Given the description of an element on the screen output the (x, y) to click on. 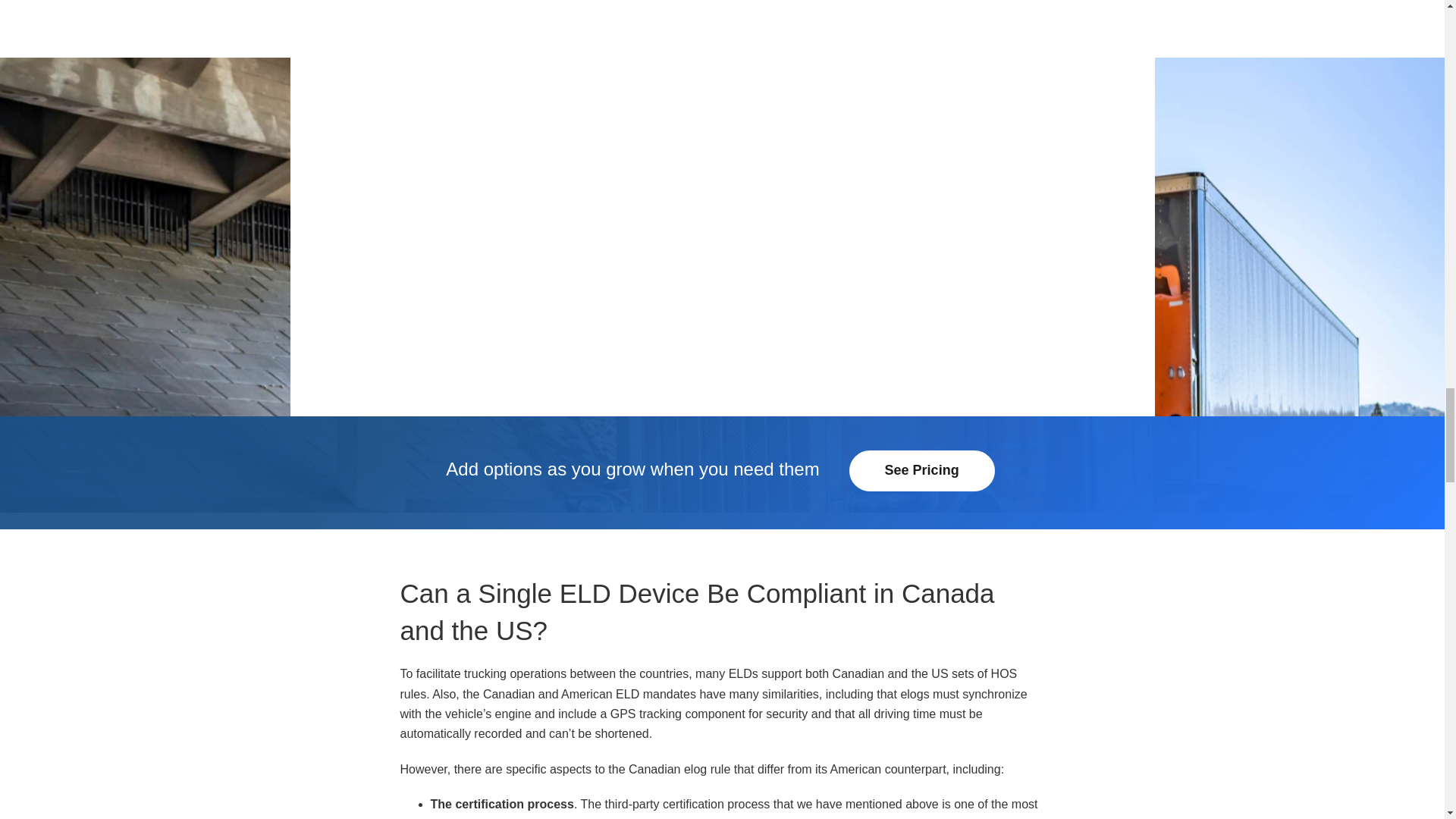
See Pricing (921, 470)
